Given the description of an element on the screen output the (x, y) to click on. 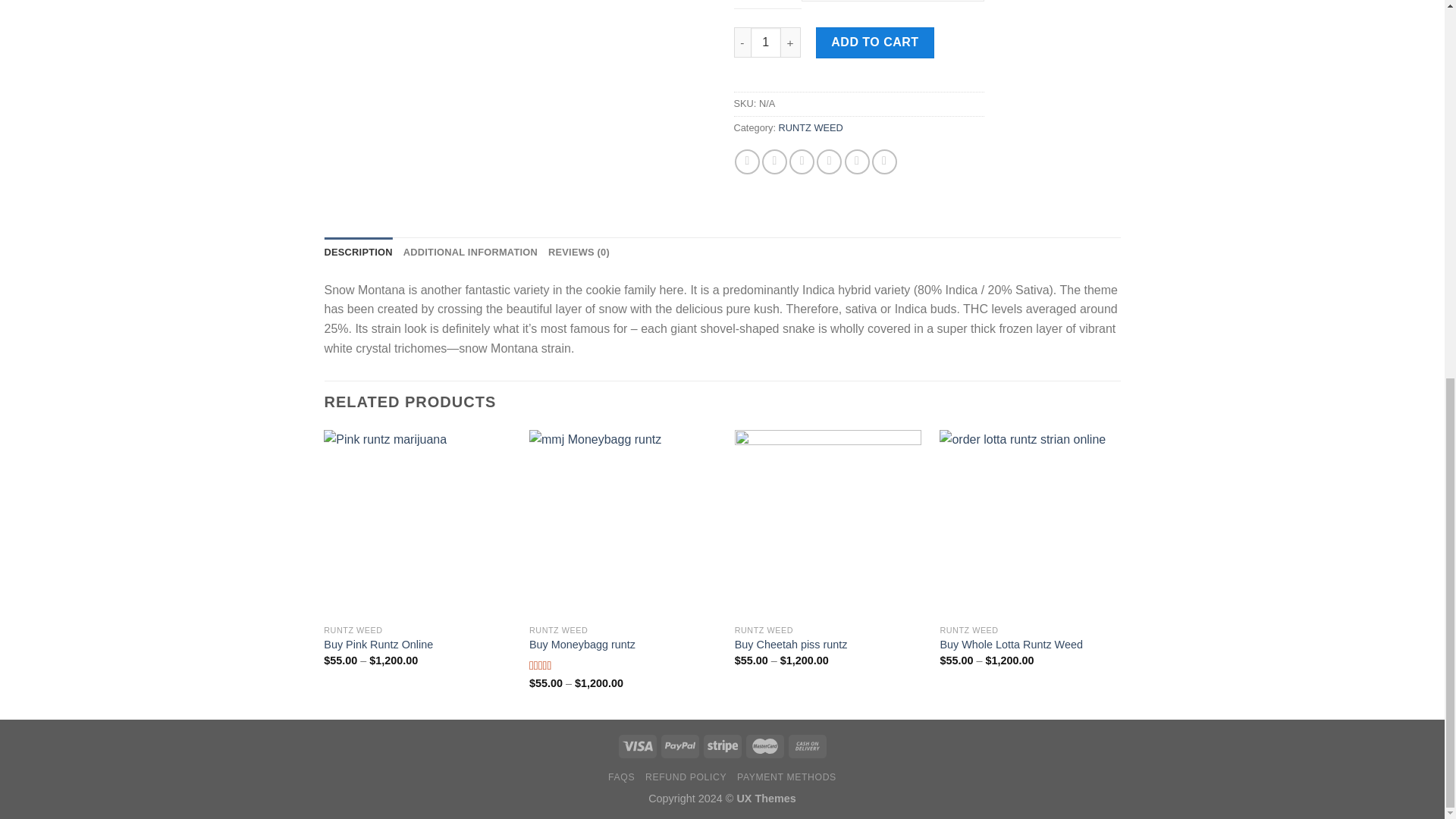
Pin on Pinterest (828, 161)
Share on LinkedIn (884, 161)
1 (765, 42)
Email to a Friend (801, 161)
Share on Twitter (774, 161)
Qty (765, 42)
Share on Facebook (747, 161)
